Given the description of an element on the screen output the (x, y) to click on. 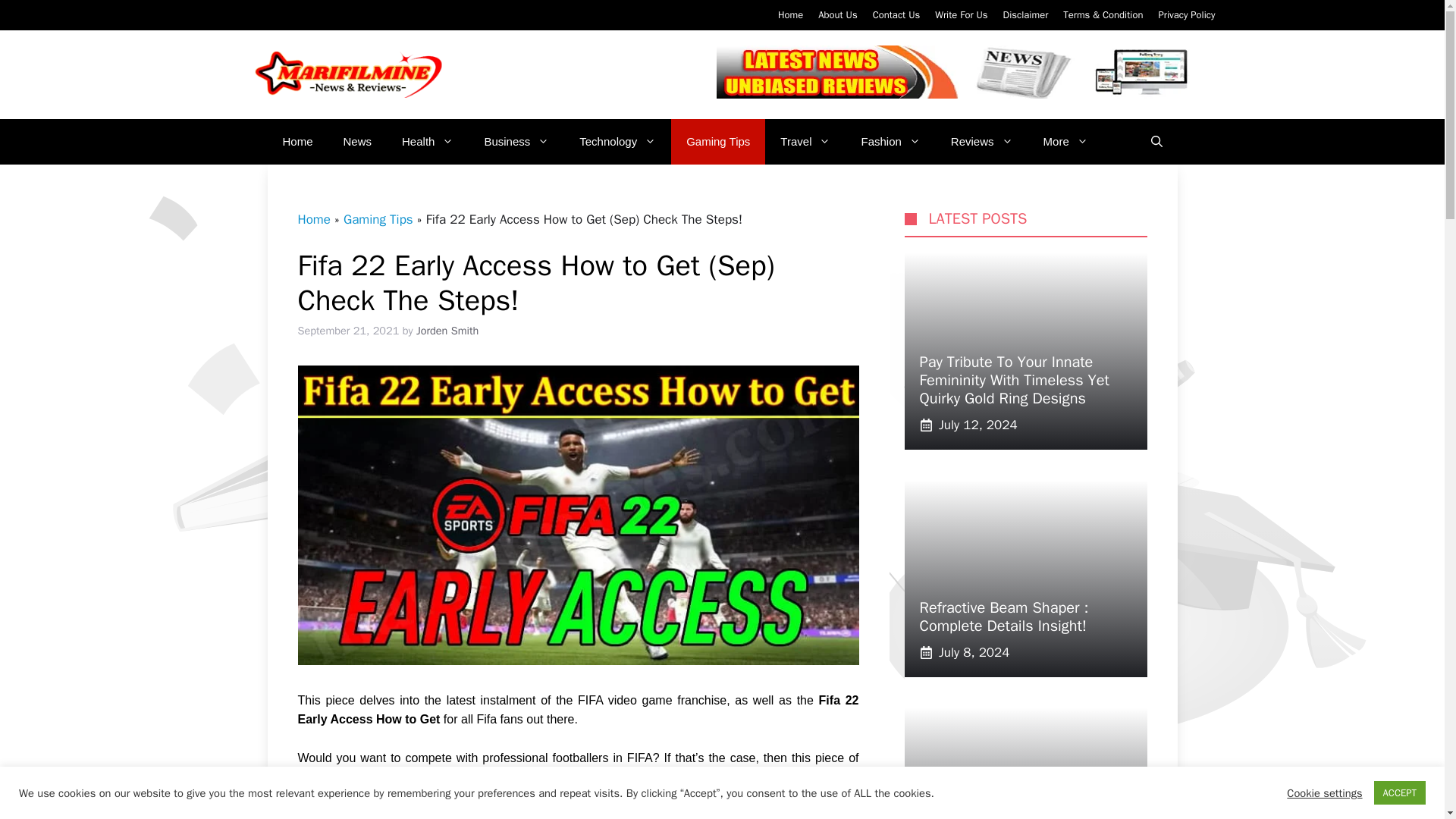
Fashion (889, 141)
Home (790, 14)
Disclaimer (1025, 14)
Travel (805, 141)
Technology (617, 141)
Home (296, 141)
View all posts by Jorden Smith (447, 330)
Reviews (981, 141)
Write For Us (960, 14)
About Us (837, 14)
News (358, 141)
Health (427, 141)
Business (516, 141)
Privacy Policy (1185, 14)
Gaming Tips (718, 141)
